Given the description of an element on the screen output the (x, y) to click on. 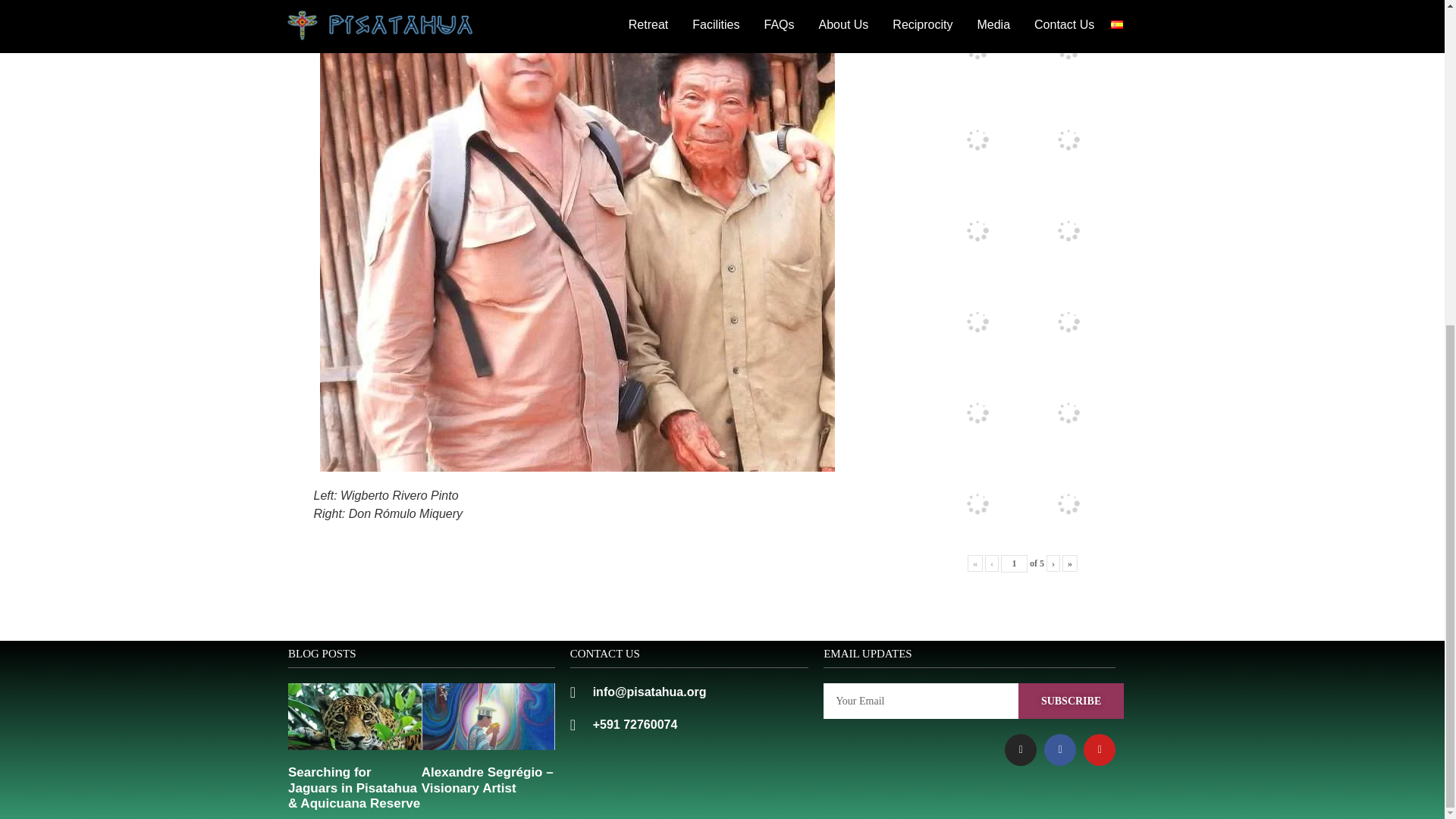
Moises-Llerena-ayahuasca-painter (1067, 321)
Anderson Debernardi-cosmico (1067, 139)
Anderson Debernardi-ayahuasca-art-residency (976, 48)
Paolo-Del-Aguila-Sajami-art-ayahuasca (976, 0)
Pablo-Amaringo-6 (1067, 48)
Juan-Carlos-Taminchi-artist (976, 139)
Felix-Pinchi Aguirre-ayahuasca-artist (1067, 0)
1 (1014, 563)
Pablo-Amaringo-1 (1067, 230)
Luis-Tamani-Amasifuen-jungle-art (976, 321)
